Given the description of an element on the screen output the (x, y) to click on. 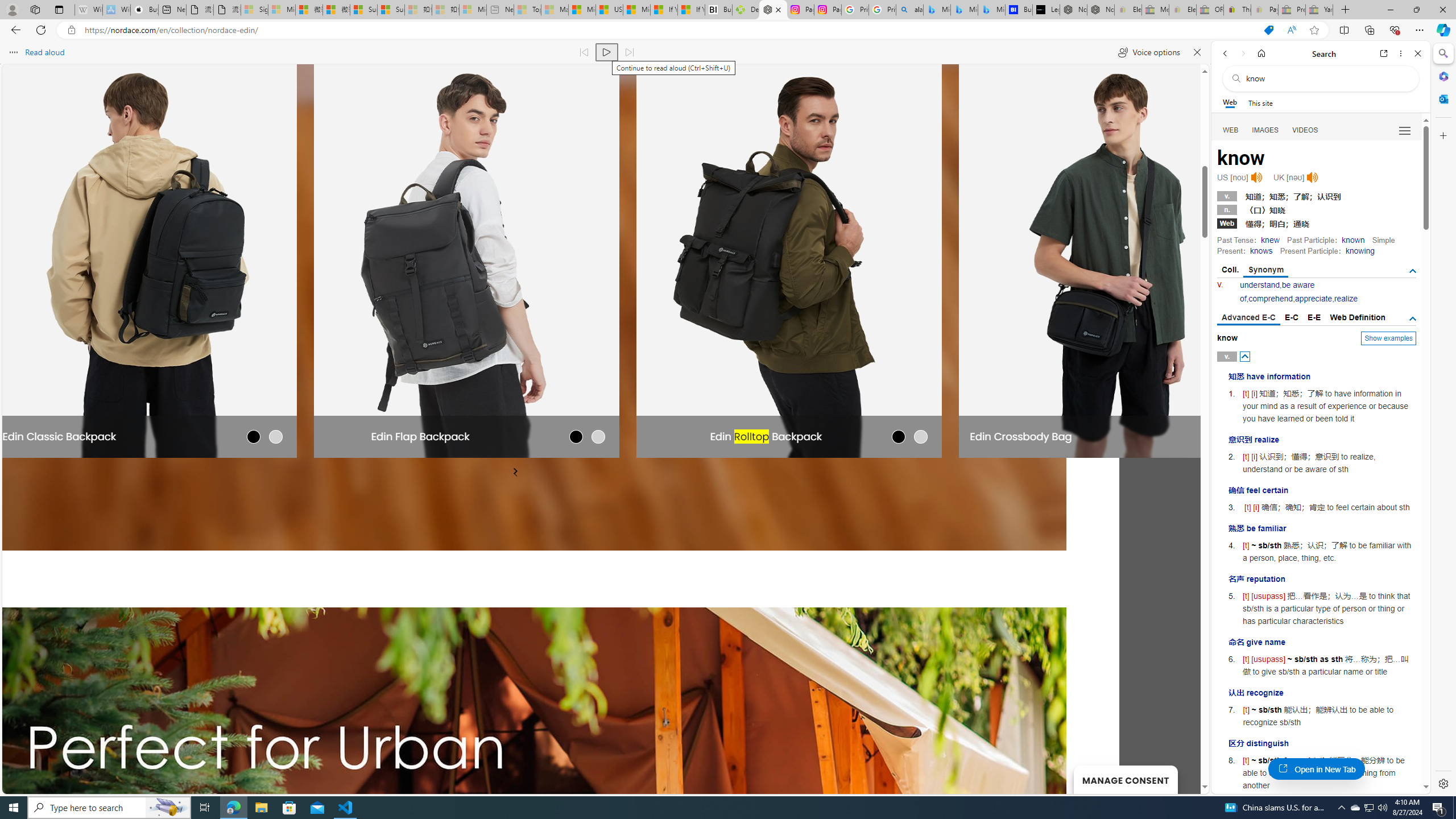
Search Filter, VIDEOS (1304, 129)
Outlook (1442, 98)
E-C (1291, 317)
knew (1269, 239)
US Heat Deaths Soared To Record High Last Year (609, 9)
Microsoft account | Account Checkup - Sleeping (473, 9)
be aware of (1277, 291)
Search Filter, WEB (1231, 129)
WEB (1231, 130)
